Given the description of an element on the screen output the (x, y) to click on. 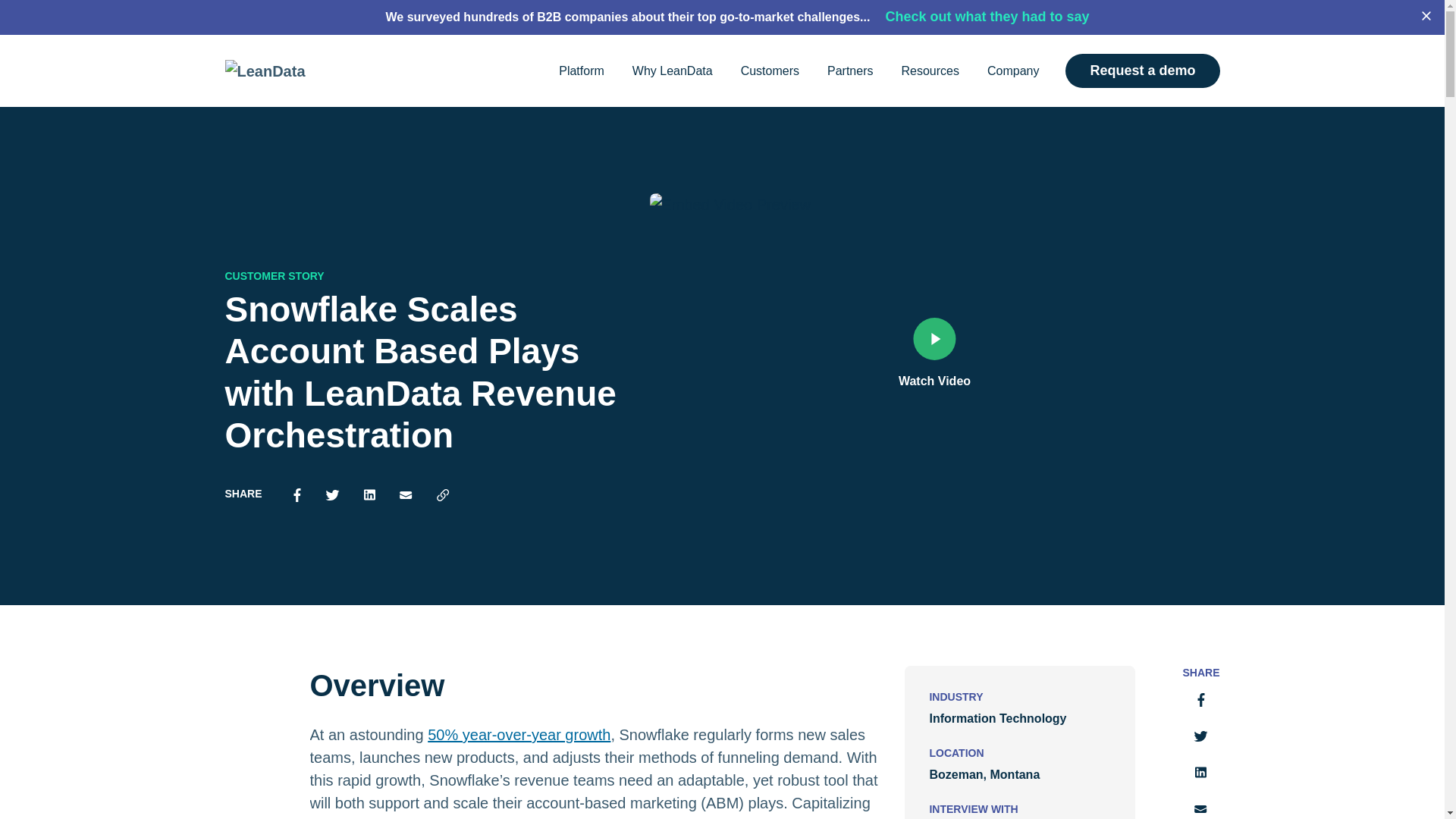
Go to Home. (240, 86)
Check out what they had to say (997, 16)
Platform (581, 71)
Why LeanData (672, 71)
Resources (929, 71)
Partners (849, 71)
Go to Resources. (303, 86)
Go to the Customer Story Content type archives. (391, 86)
Customers (770, 71)
